Given the description of an element on the screen output the (x, y) to click on. 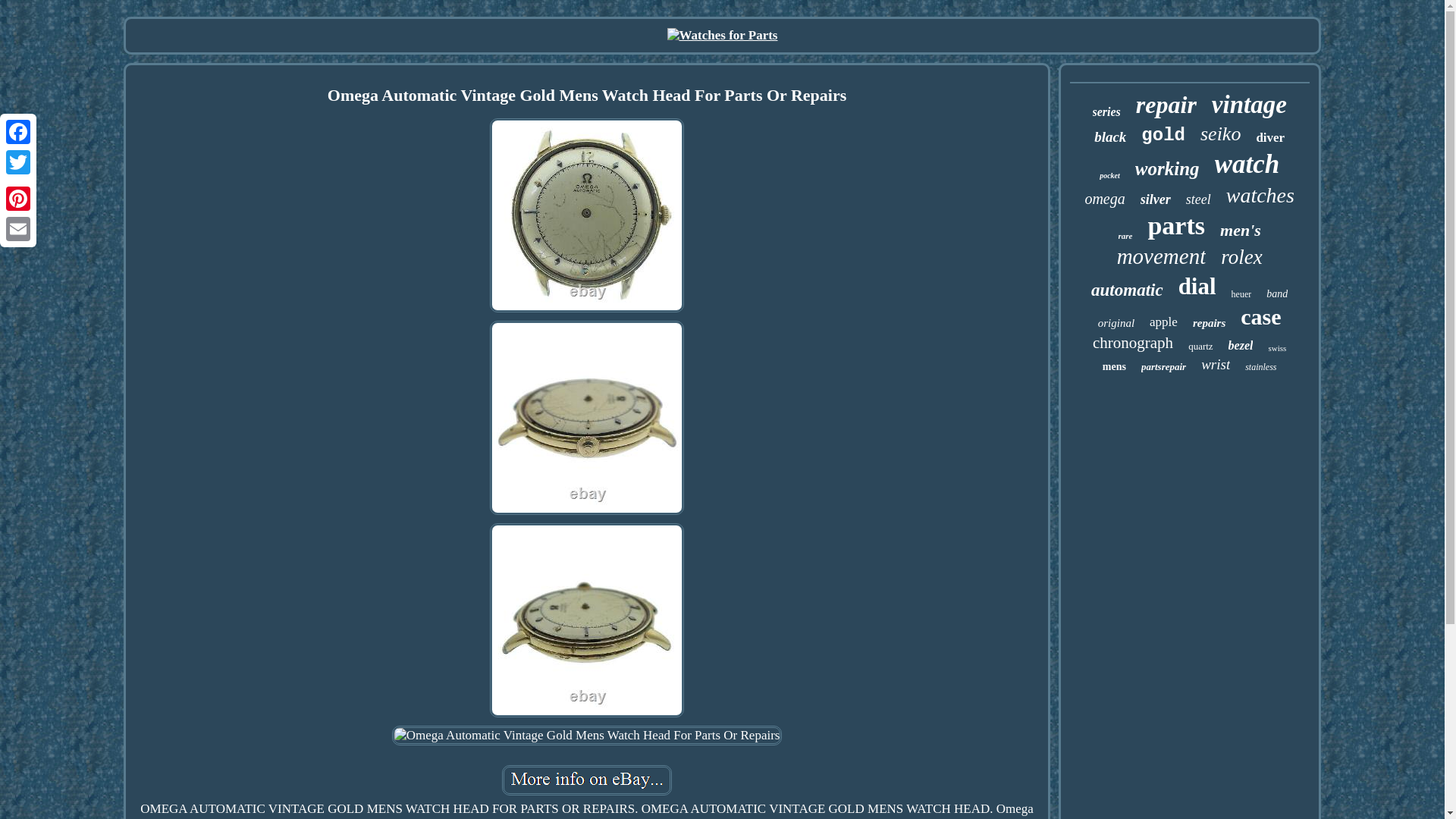
gold (1163, 135)
case (1260, 316)
dial (1196, 286)
Email (17, 228)
Pinterest (17, 198)
pocket (1109, 175)
repairs (1208, 323)
apple (1163, 322)
